Given the description of an element on the screen output the (x, y) to click on. 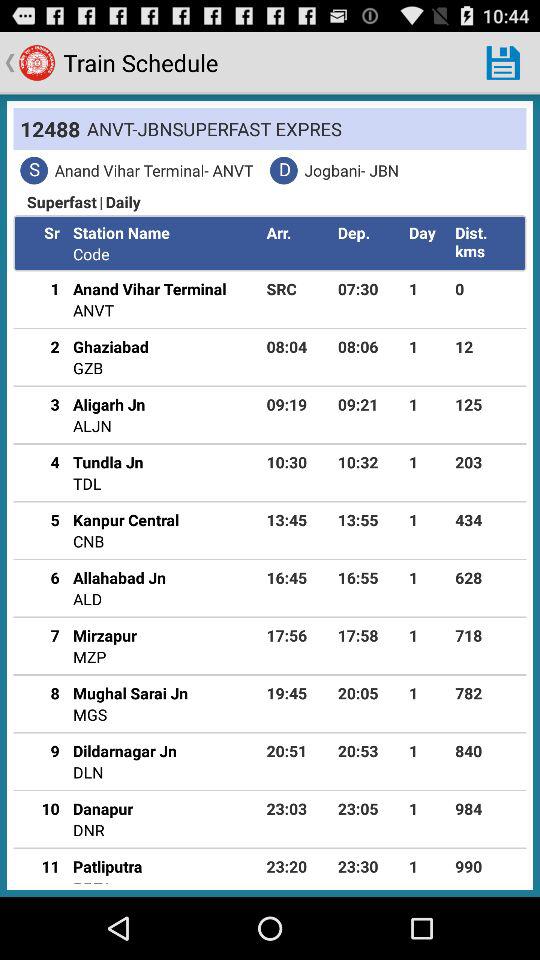
tap the app next to the 16:45 app (119, 577)
